Given the description of an element on the screen output the (x, y) to click on. 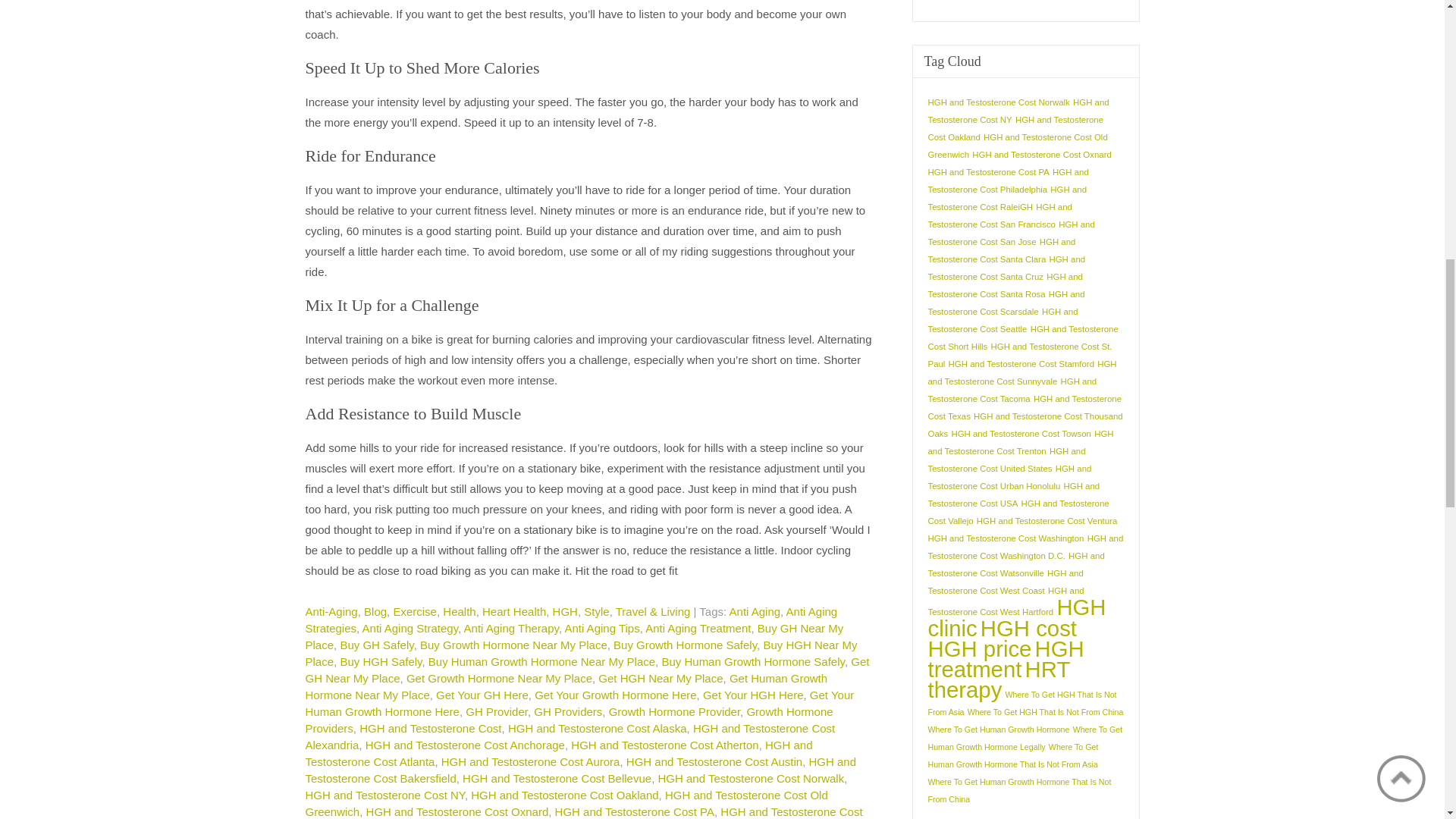
View all posts in Anti-Aging (330, 611)
View all posts in Blog (375, 611)
View all posts in Style (595, 611)
View all posts in Heart Health (513, 611)
View all posts in Health (459, 611)
View all posts in HGH (565, 611)
View all posts in Exercise (414, 611)
